Given the description of an element on the screen output the (x, y) to click on. 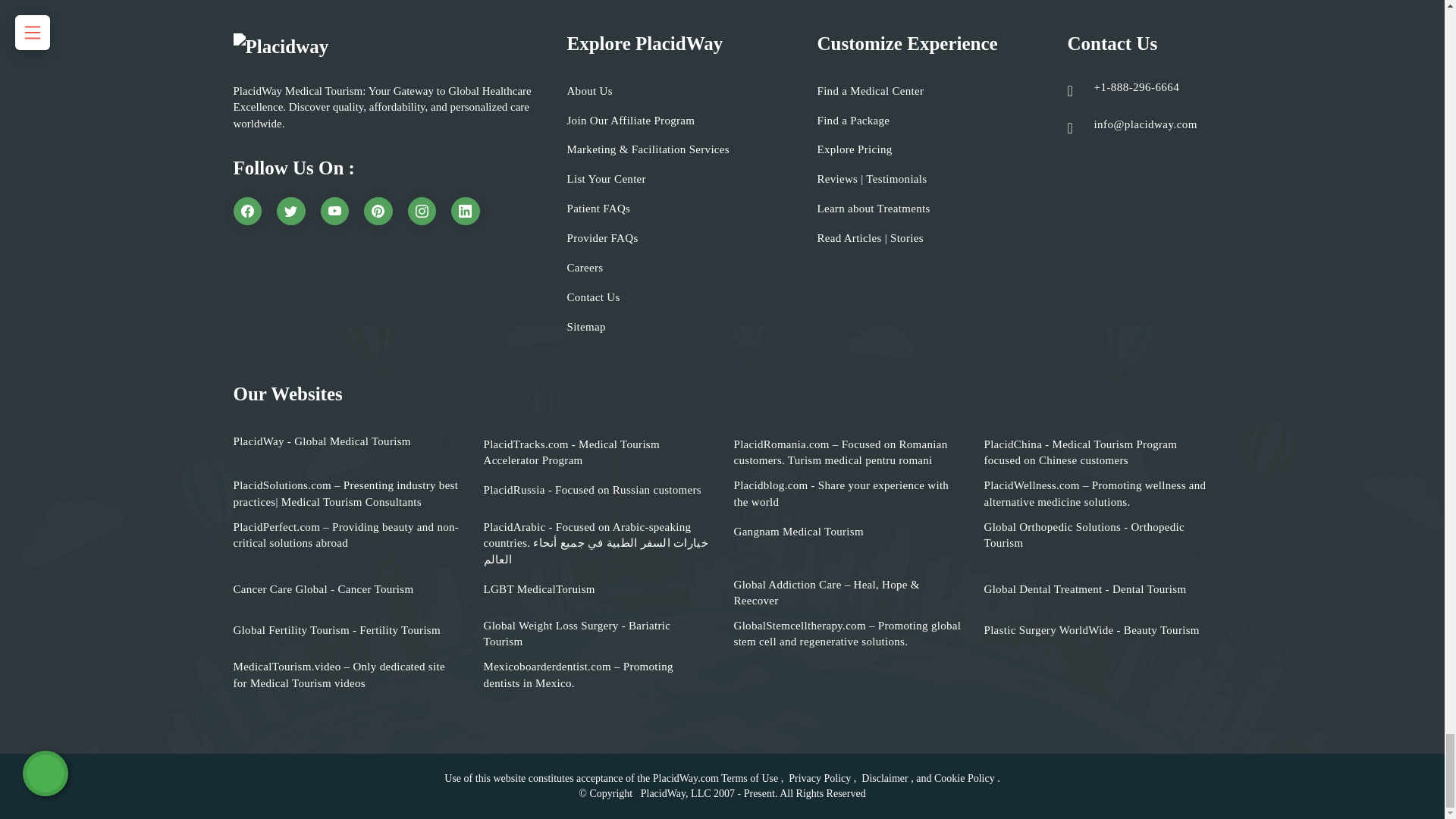
Gangnam Medical Tourism (798, 531)
Global Orthopedic Solutions - Orthopedic Tourism (1097, 535)
Placidway's Instagram Account (421, 211)
Placidway's Twitter Account (290, 211)
Placidway's Pinterest Account (378, 211)
PlacidRussia - Focused on Russian customers (592, 489)
Cancer Care Global - Cancer Tourism (322, 589)
Placidway's Linkedin Account (465, 211)
Placidway's facebook Account (247, 211)
